Given the description of an element on the screen output the (x, y) to click on. 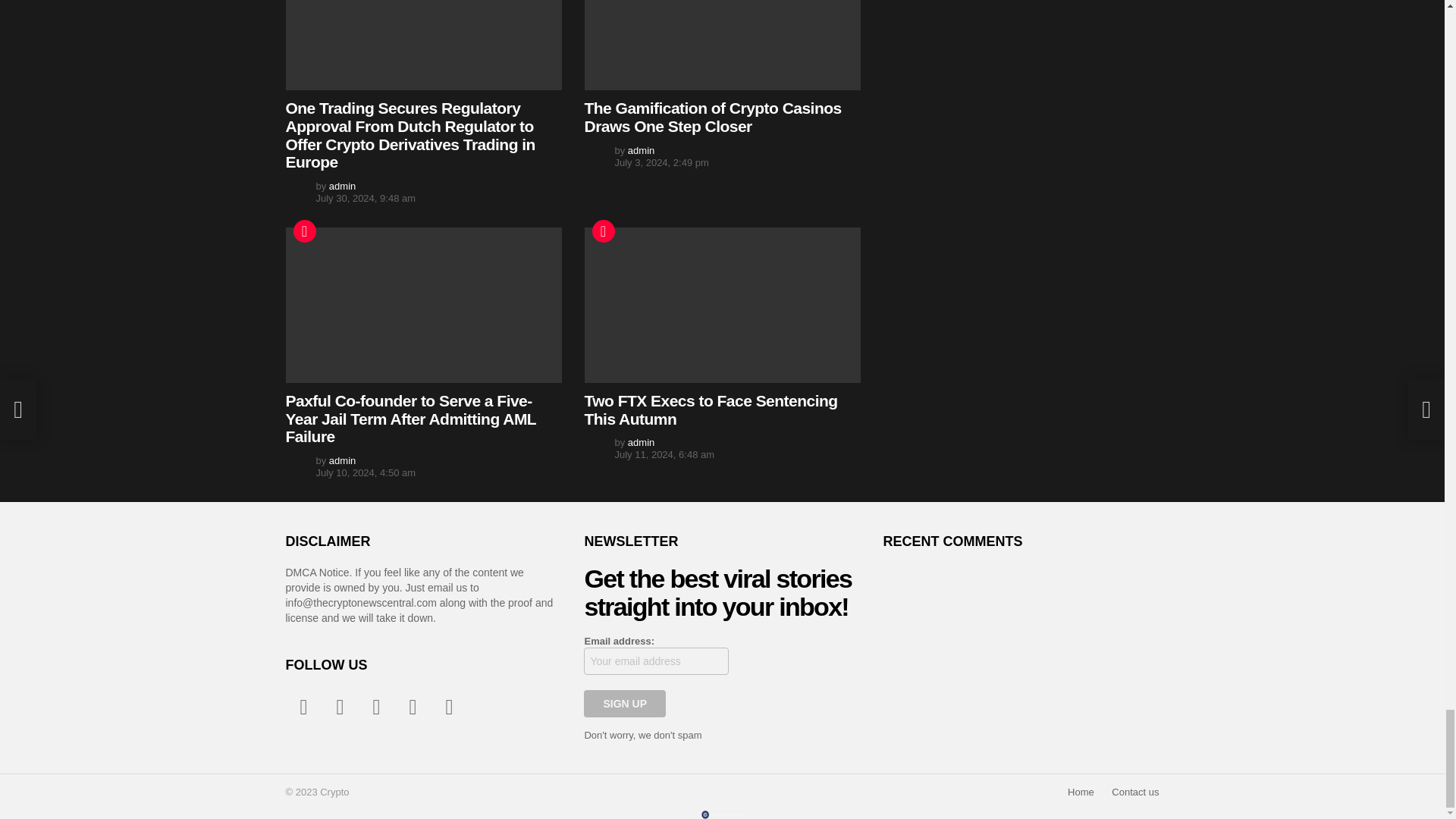
Sign up (624, 703)
